Given the description of an element on the screen output the (x, y) to click on. 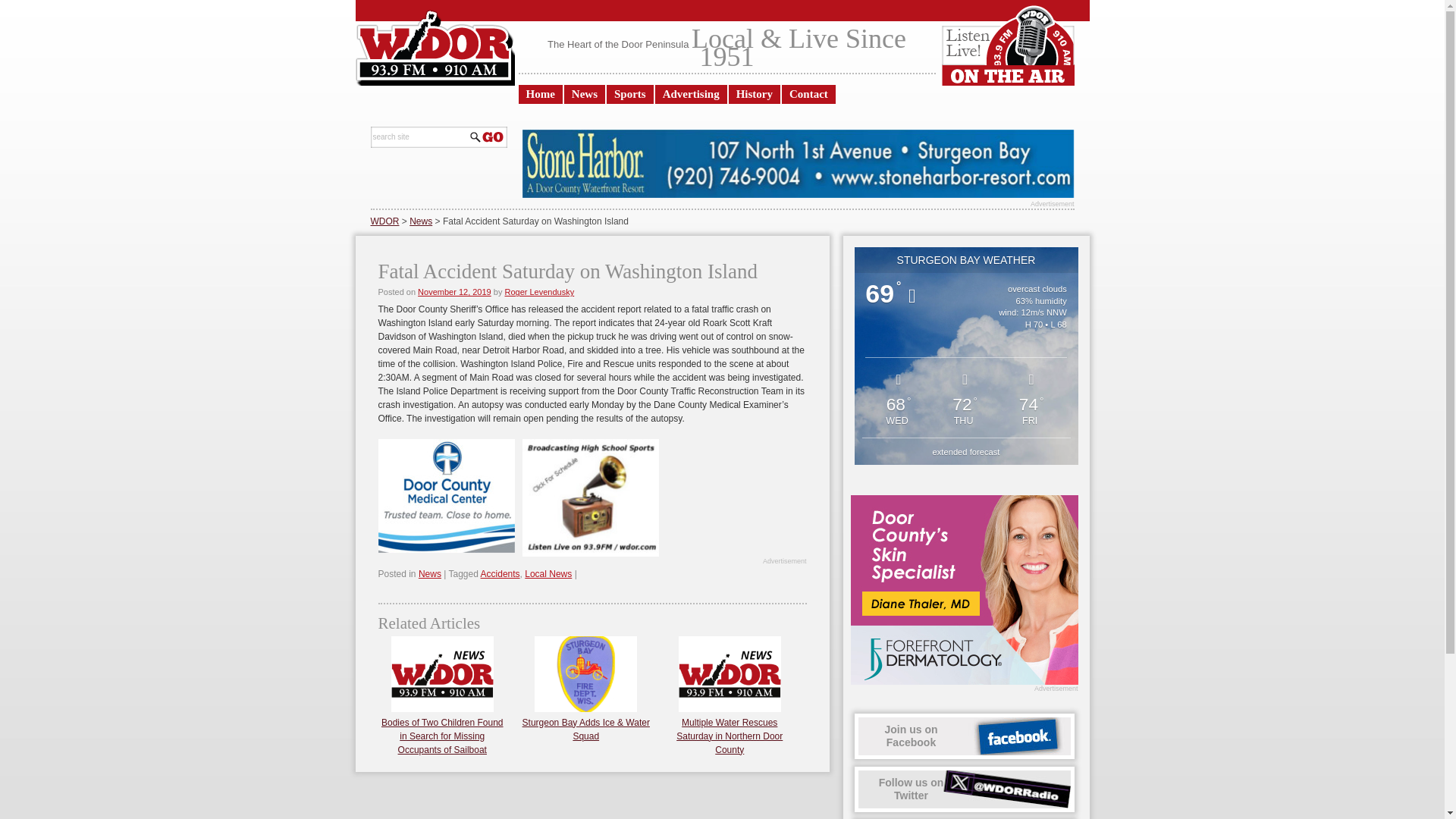
DCMC (445, 495)
News (420, 221)
Advertising (690, 94)
WDOR (383, 221)
search site (418, 136)
Go to WDOR. (383, 221)
Home (540, 94)
Multiple Water Rescues Saturday in Northern Door County (730, 729)
Accidents (499, 573)
History (754, 94)
Roger Levendusky (538, 291)
Sports Schedule (589, 497)
News (584, 94)
extended forecast (966, 451)
